Given the description of an element on the screen output the (x, y) to click on. 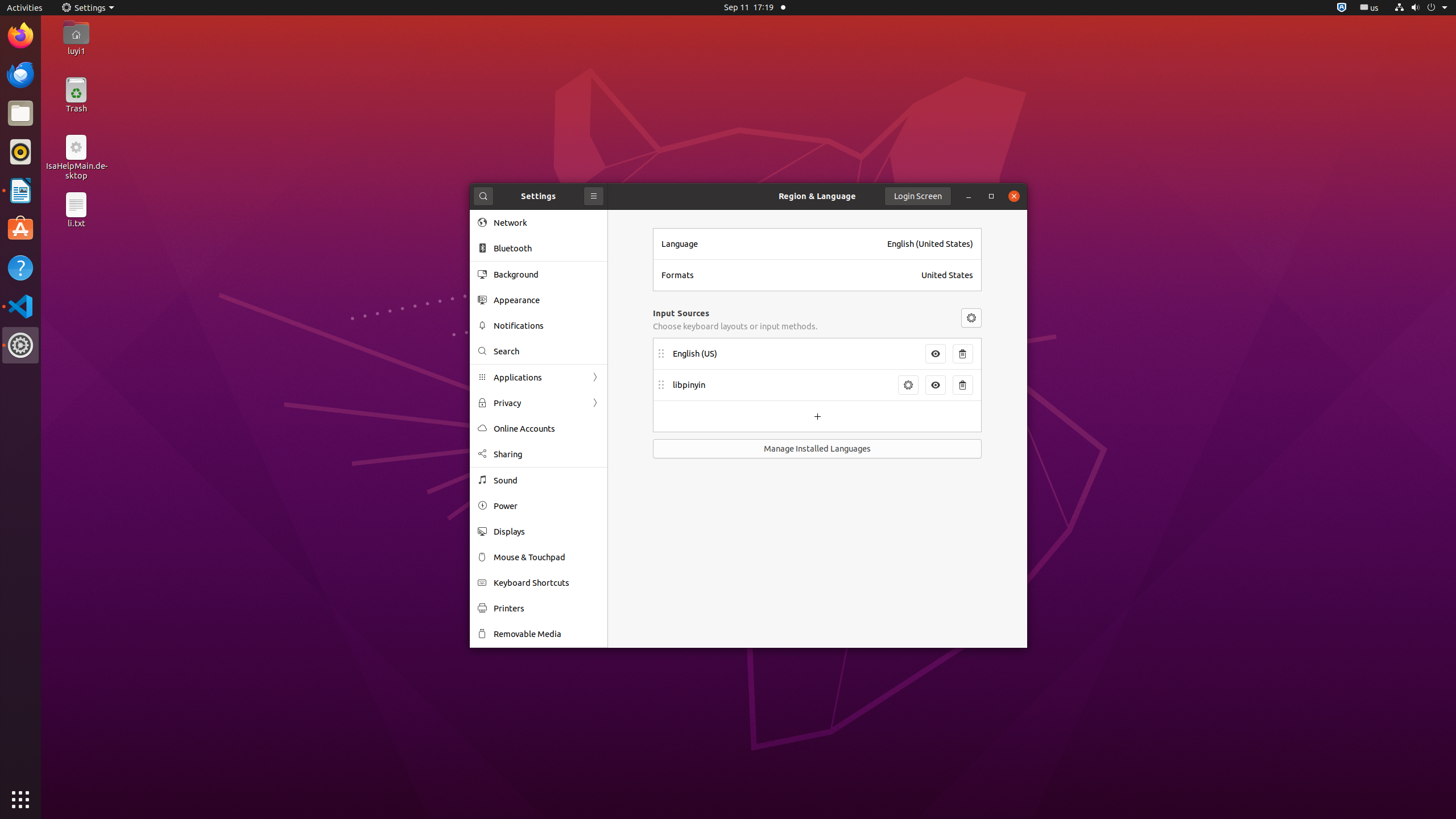
Sharing Element type: label (546, 453)
Background Element type: label (546, 274)
Login Screen Element type: toggle-button (917, 196)
